Given the description of an element on the screen output the (x, y) to click on. 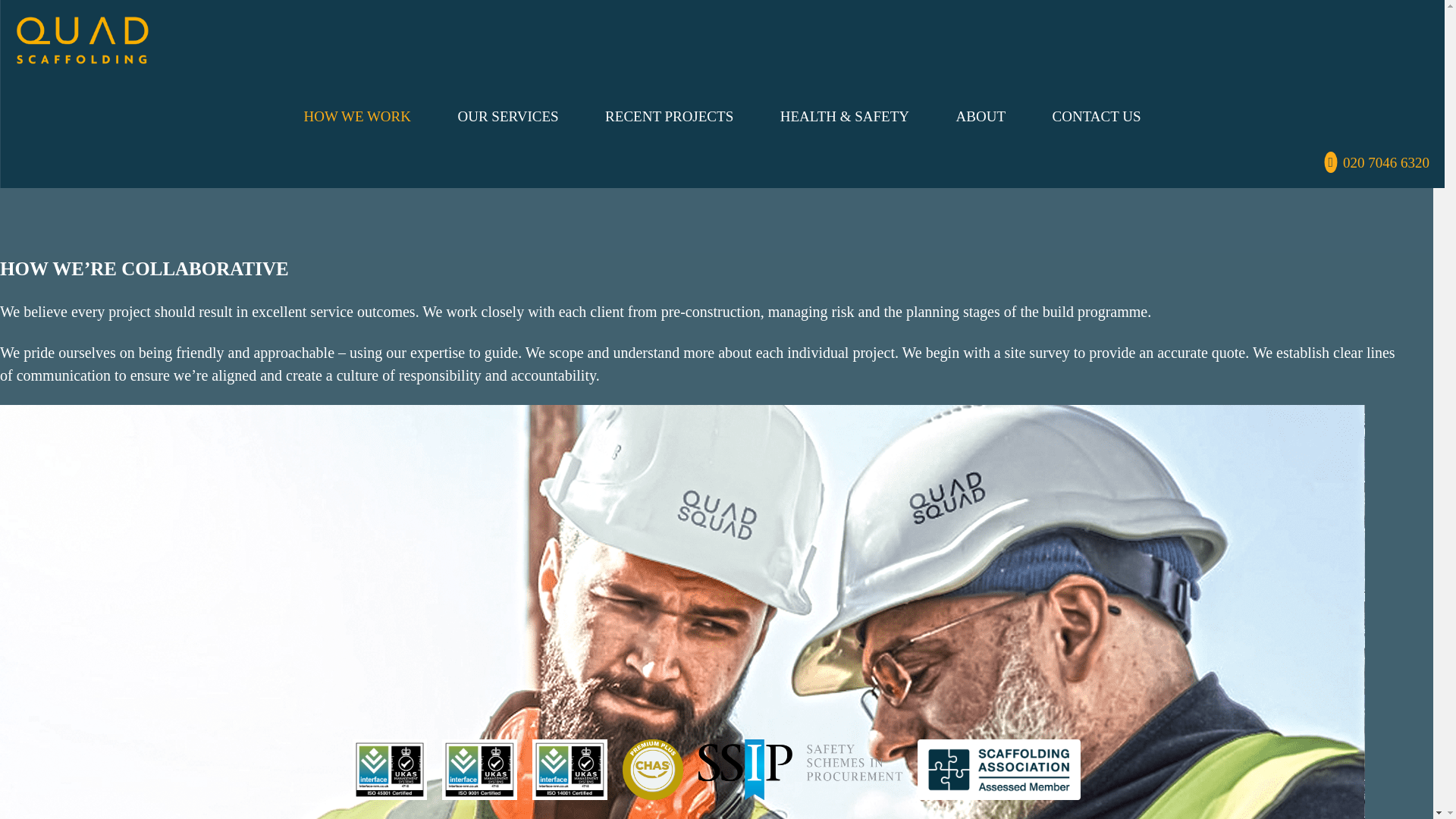
ABOUT (981, 116)
HOW WE WORK (358, 116)
CONTACT US (1096, 116)
OUR SERVICES (507, 116)
RECENT PROJECTS (668, 116)
